Given the description of an element on the screen output the (x, y) to click on. 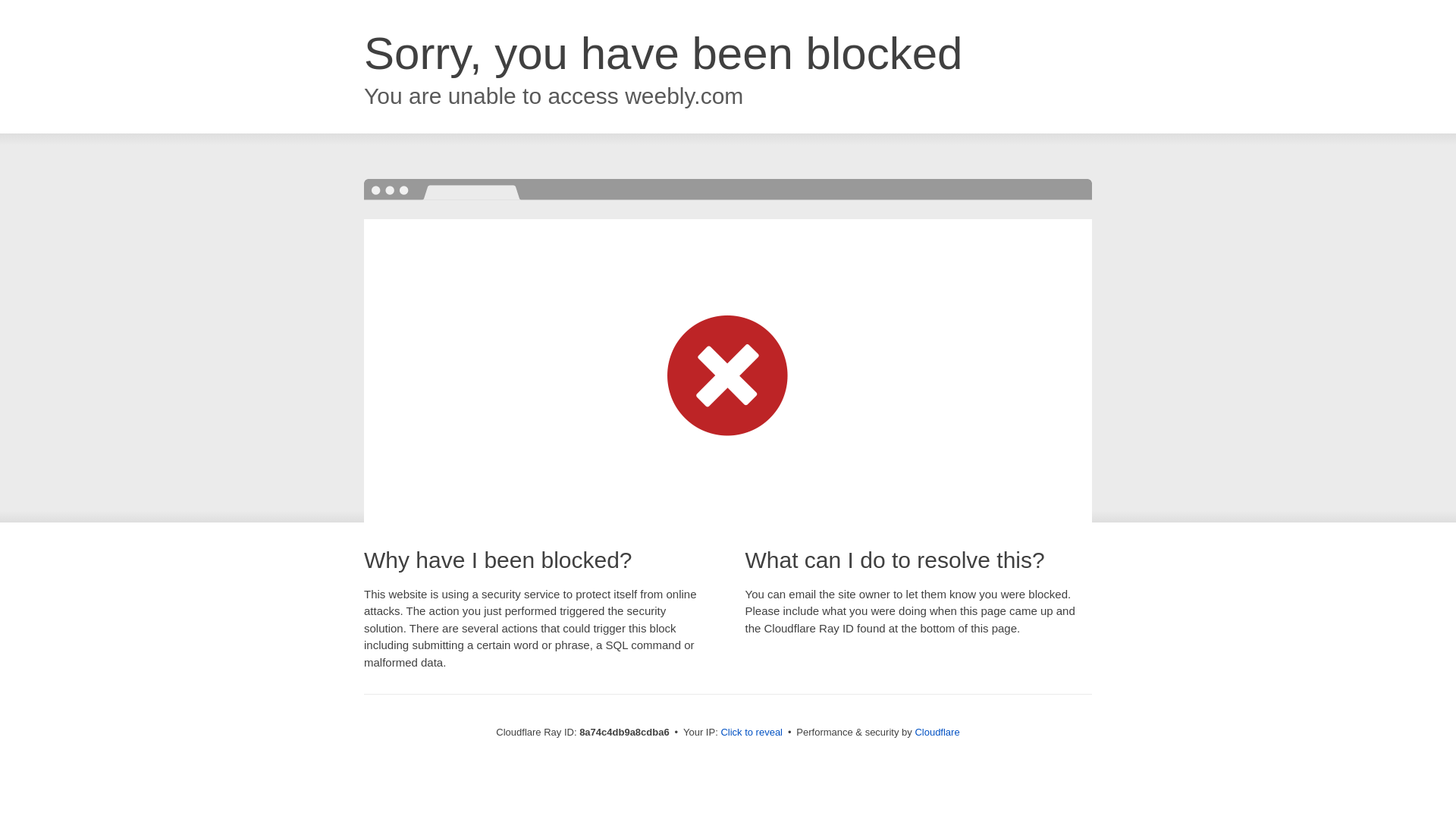
Cloudflare (936, 731)
Click to reveal (751, 732)
